Given the description of an element on the screen output the (x, y) to click on. 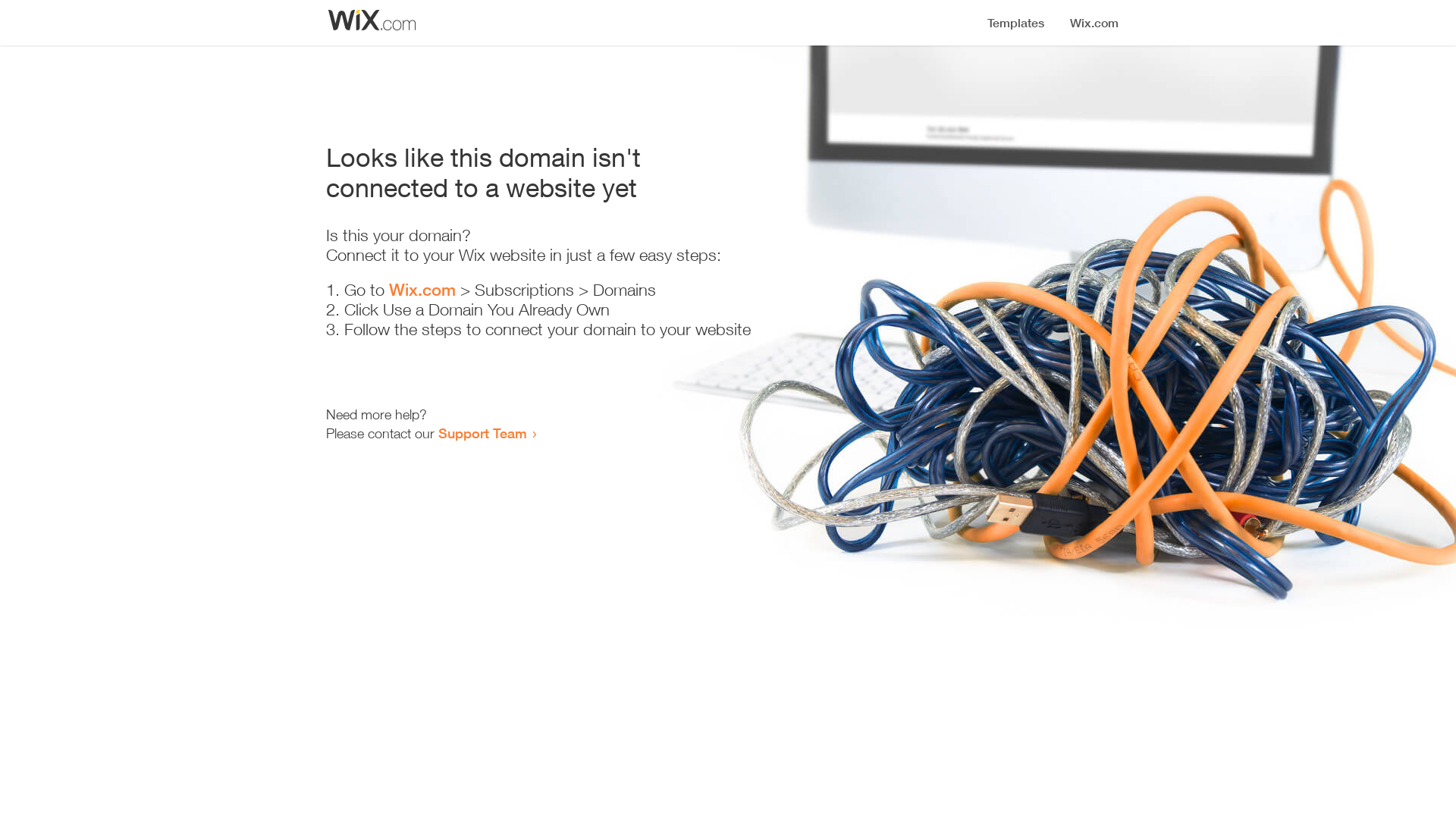
Support Team Element type: text (482, 432)
Wix.com Element type: text (422, 289)
